Given the description of an element on the screen output the (x, y) to click on. 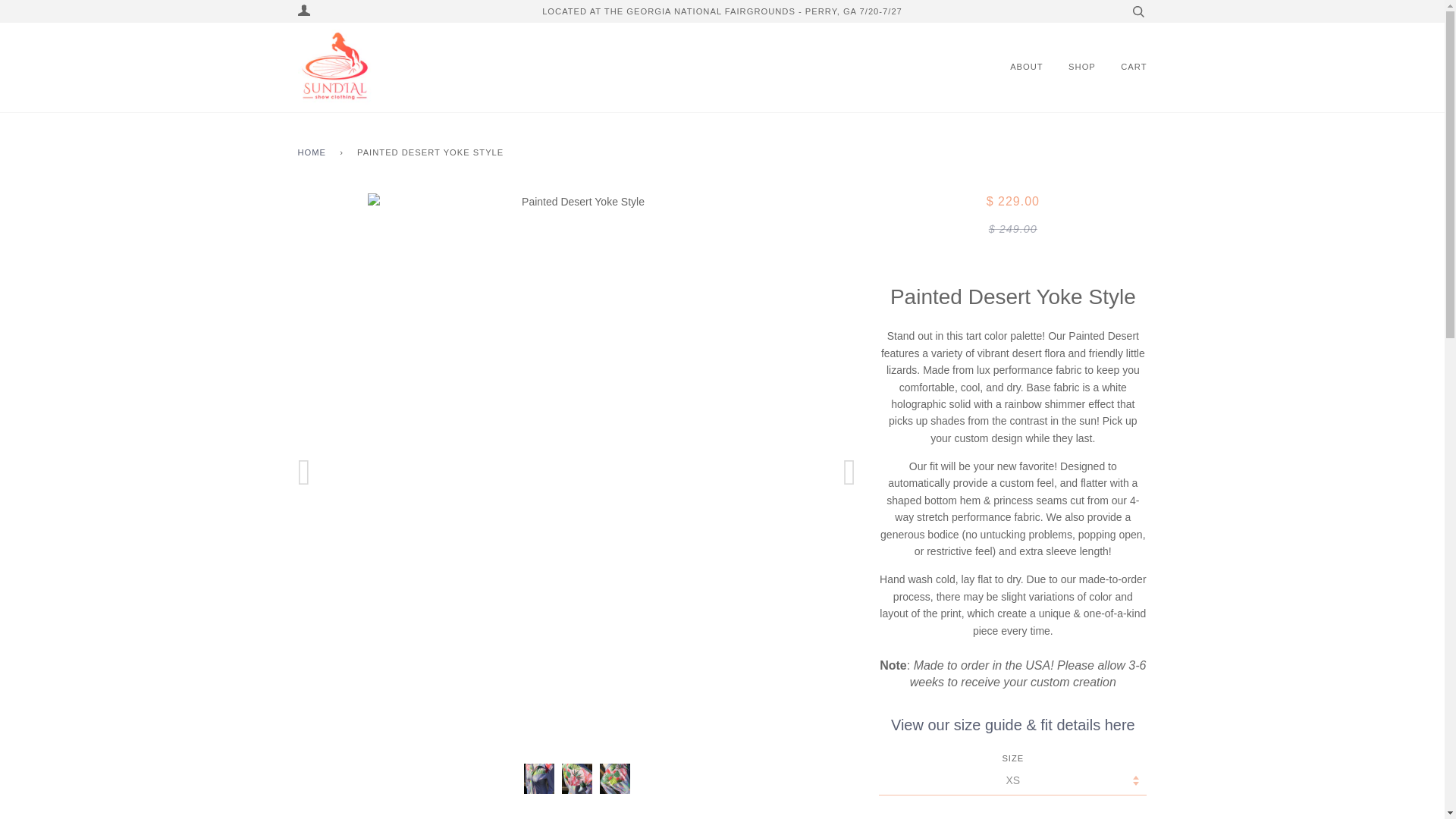
Back to the frontpage (314, 152)
SHOP (1082, 67)
ABOUT (1026, 67)
